Given the description of an element on the screen output the (x, y) to click on. 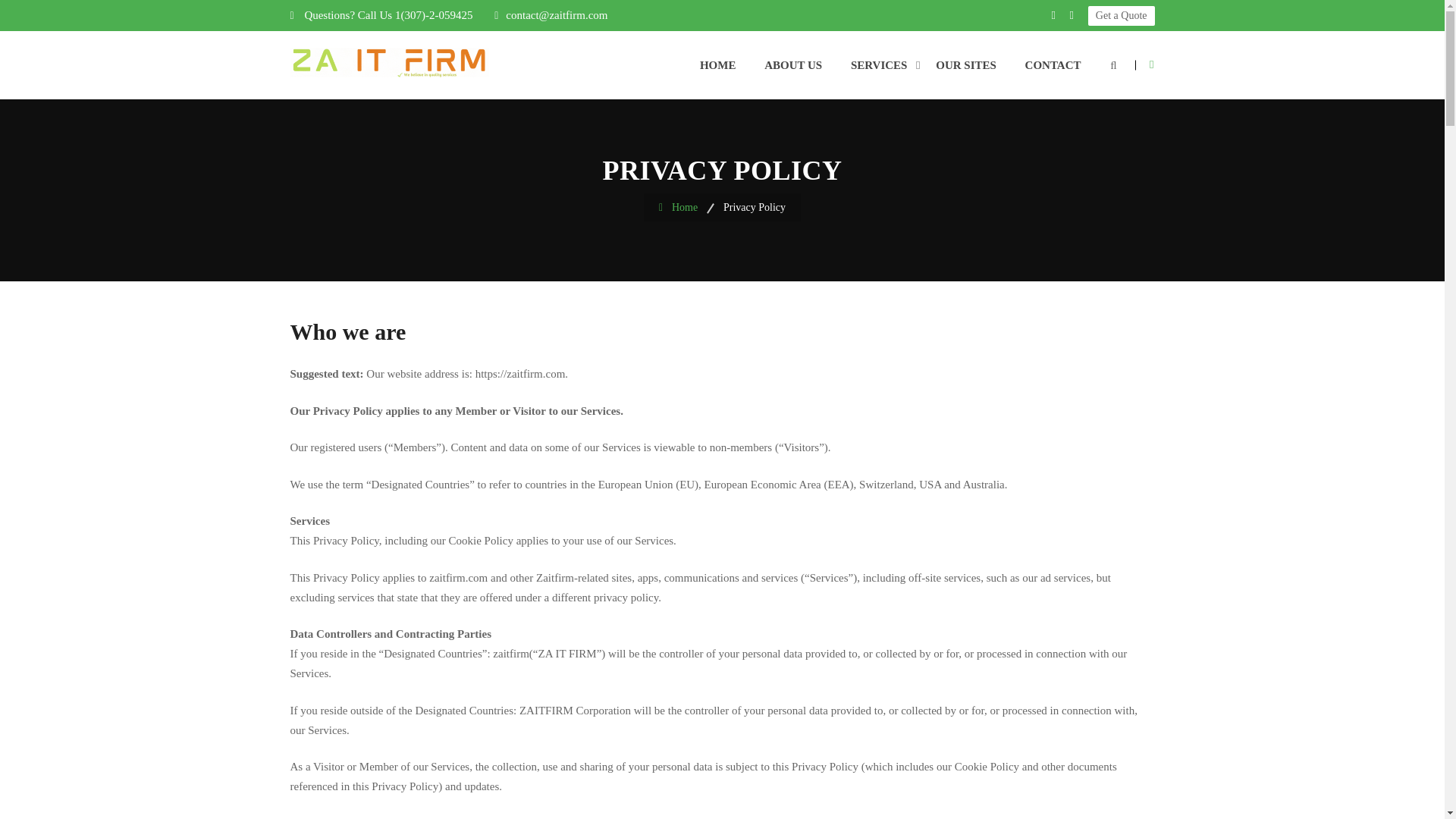
Home (689, 208)
Get a Quote (1120, 15)
